Given the description of an element on the screen output the (x, y) to click on. 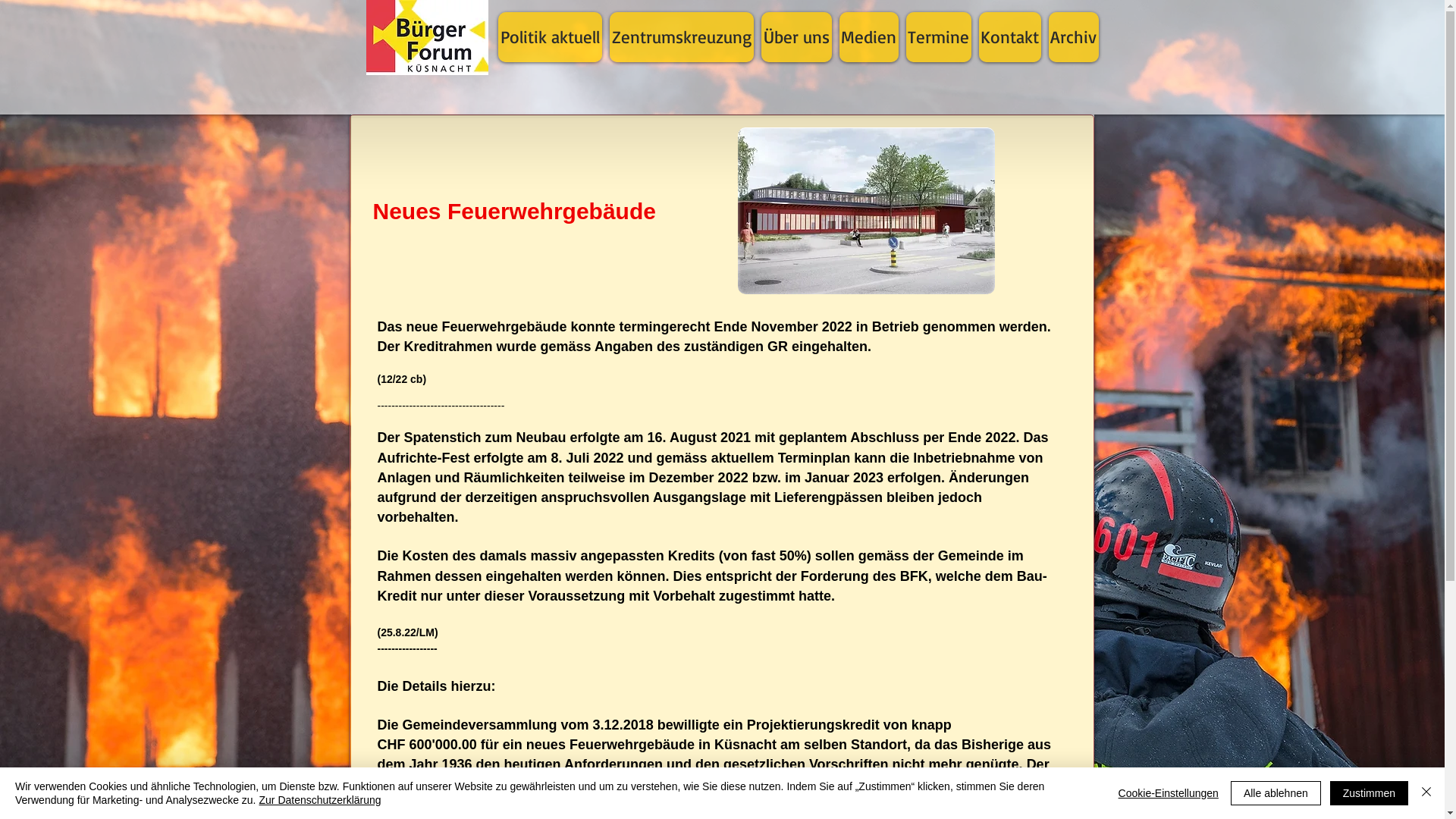
Alle ablehnen Element type: text (1275, 793)
Zustimmen Element type: text (1369, 793)
Startseite Element type: hover (426, 37)
Termine Element type: text (937, 37)
